Given the description of an element on the screen output the (x, y) to click on. 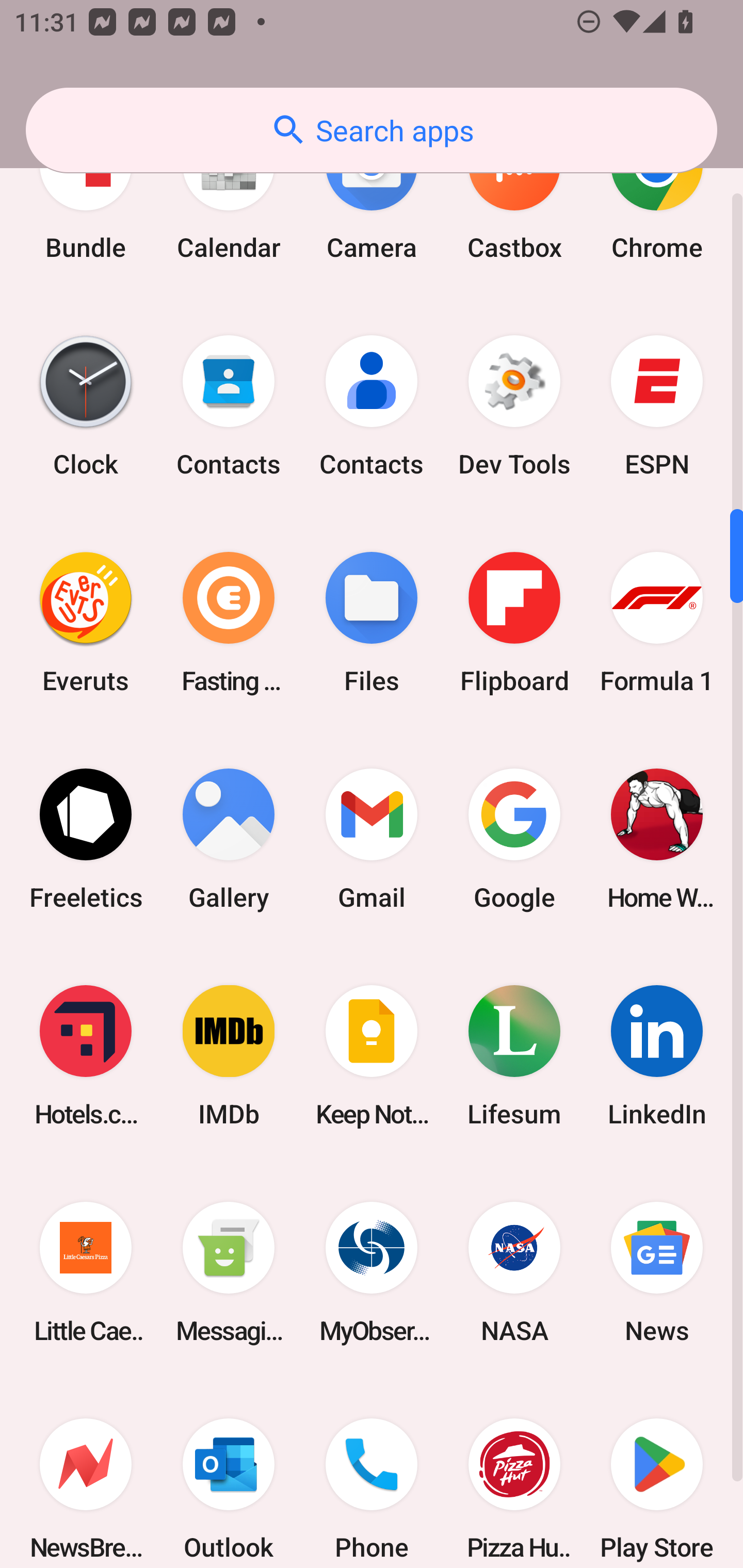
  Search apps (371, 130)
Bundle (85, 200)
Calendar (228, 200)
Camera (371, 200)
Castbox (514, 200)
Chrome (656, 200)
Clock (85, 405)
Contacts (228, 405)
Contacts (371, 405)
Dev Tools (514, 405)
ESPN (656, 405)
Everuts (85, 622)
Fasting Coach (228, 622)
Files (371, 622)
Flipboard (514, 622)
Formula 1 (656, 622)
Freeletics (85, 838)
Gallery (228, 838)
Gmail (371, 838)
Google (514, 838)
Home Workout (656, 838)
Hotels.com (85, 1055)
IMDb (228, 1055)
Keep Notes (371, 1055)
Lifesum (514, 1055)
LinkedIn (656, 1055)
Little Caesars Pizza (85, 1272)
Messaging (228, 1272)
MyObservatory (371, 1272)
NASA (514, 1272)
News (656, 1272)
NewsBreak (85, 1474)
Outlook (228, 1474)
Phone (371, 1474)
Pizza Hut HK & Macau (514, 1474)
Play Store (656, 1474)
